Given the description of an element on the screen output the (x, y) to click on. 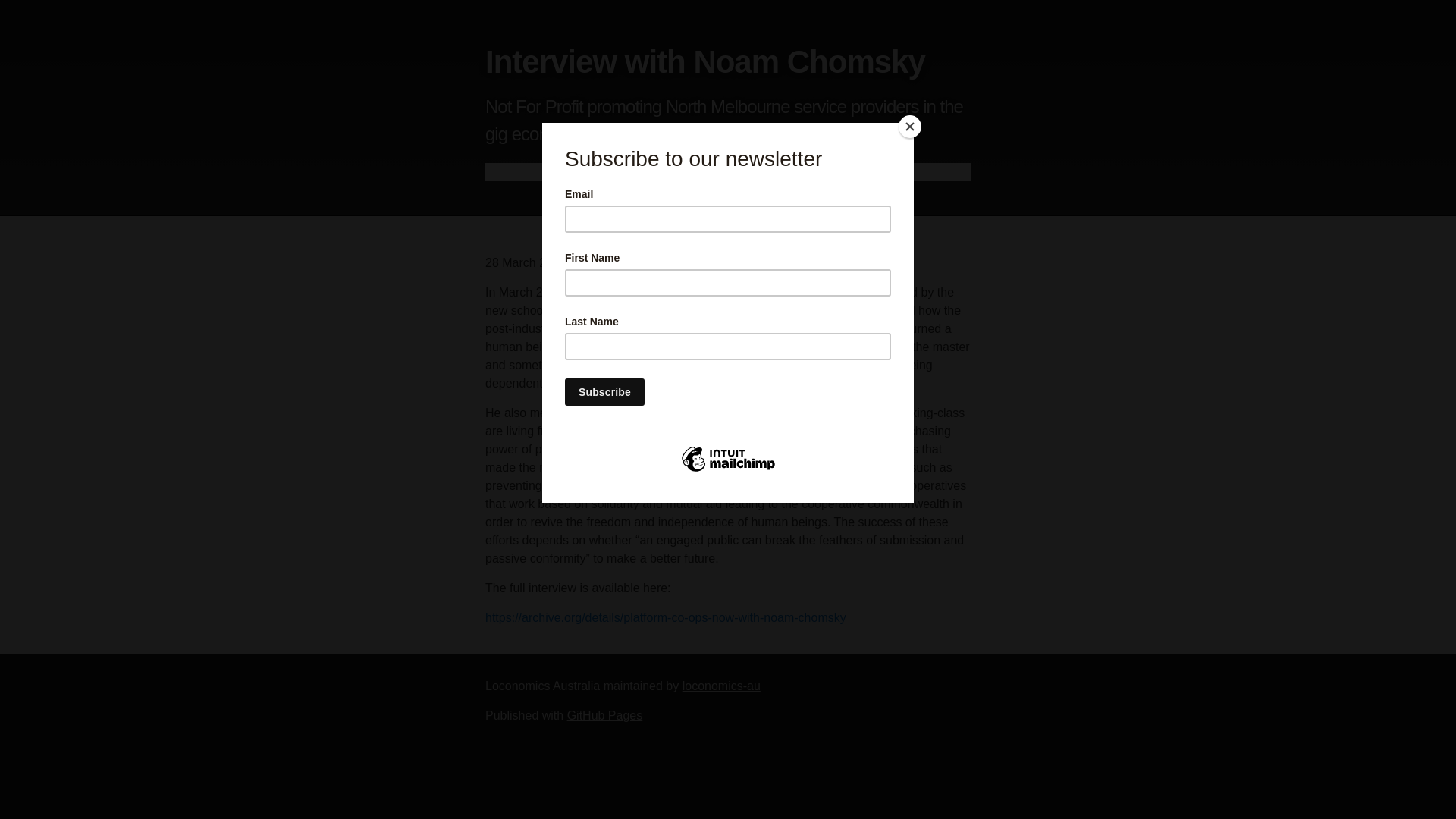
Our Mission Element type: text (753, 171)
Home Element type: text (618, 171)
Latest News Element type: text (677, 171)
loconomics-au Element type: text (721, 685)
GitHub Pages Element type: text (605, 715)
Newsletter Element type: text (824, 171)
